Given the description of an element on the screen output the (x, y) to click on. 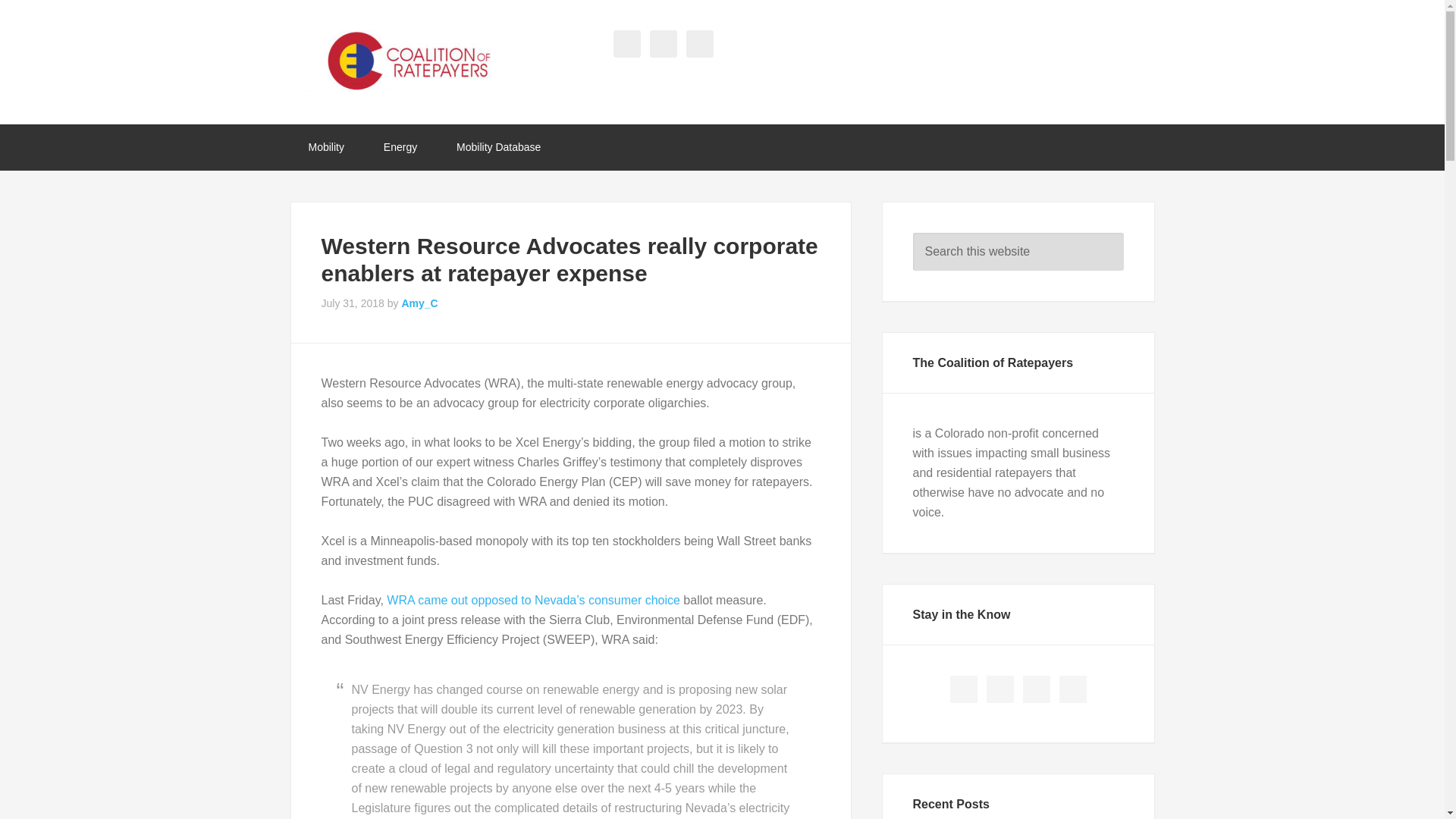
Coalition of Ratepayers (410, 60)
Mobility Database (498, 147)
Mobility (325, 147)
Energy (400, 147)
